Given the description of an element on the screen output the (x, y) to click on. 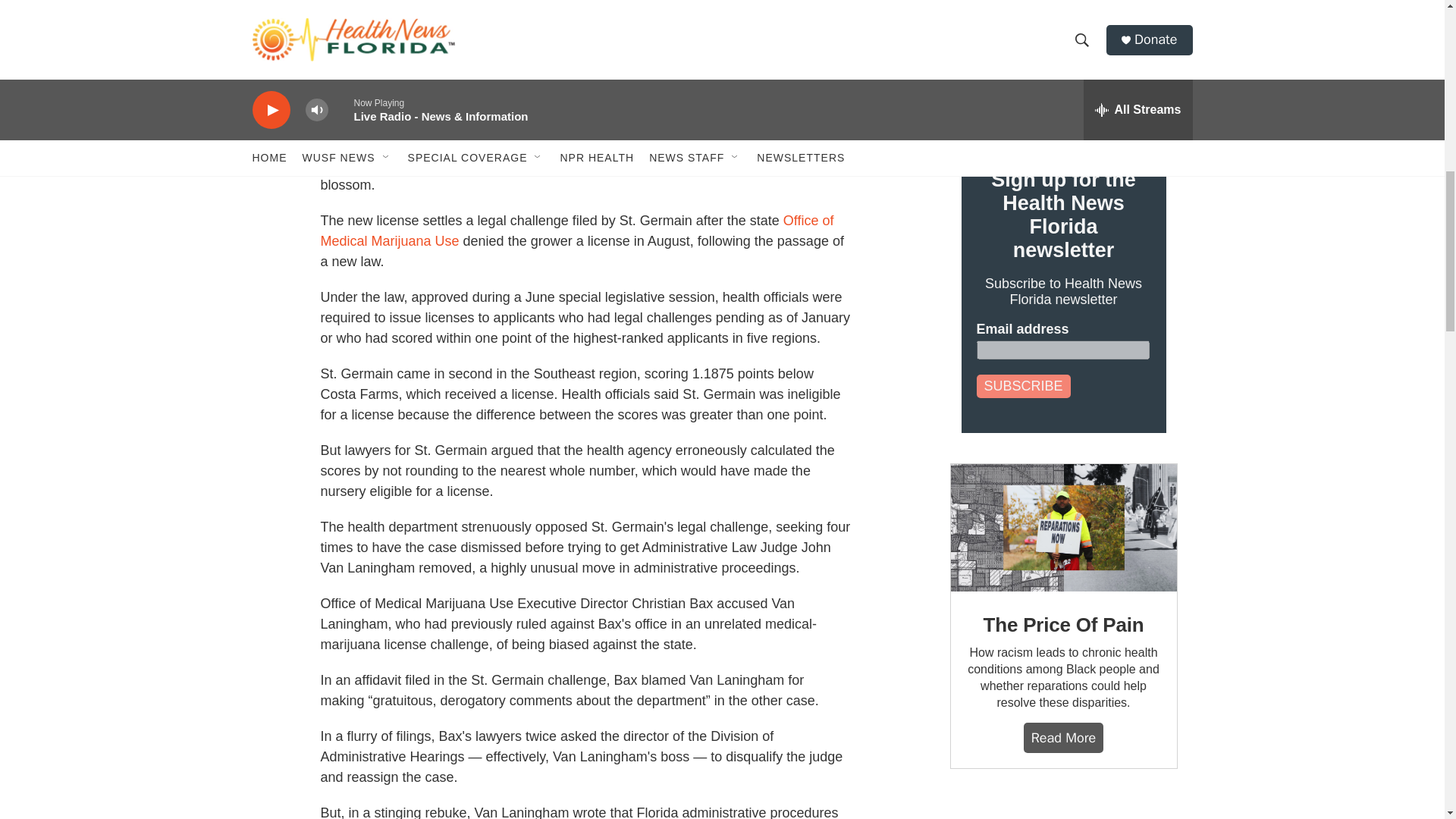
3rd party ad content (1062, 809)
